Given the description of an element on the screen output the (x, y) to click on. 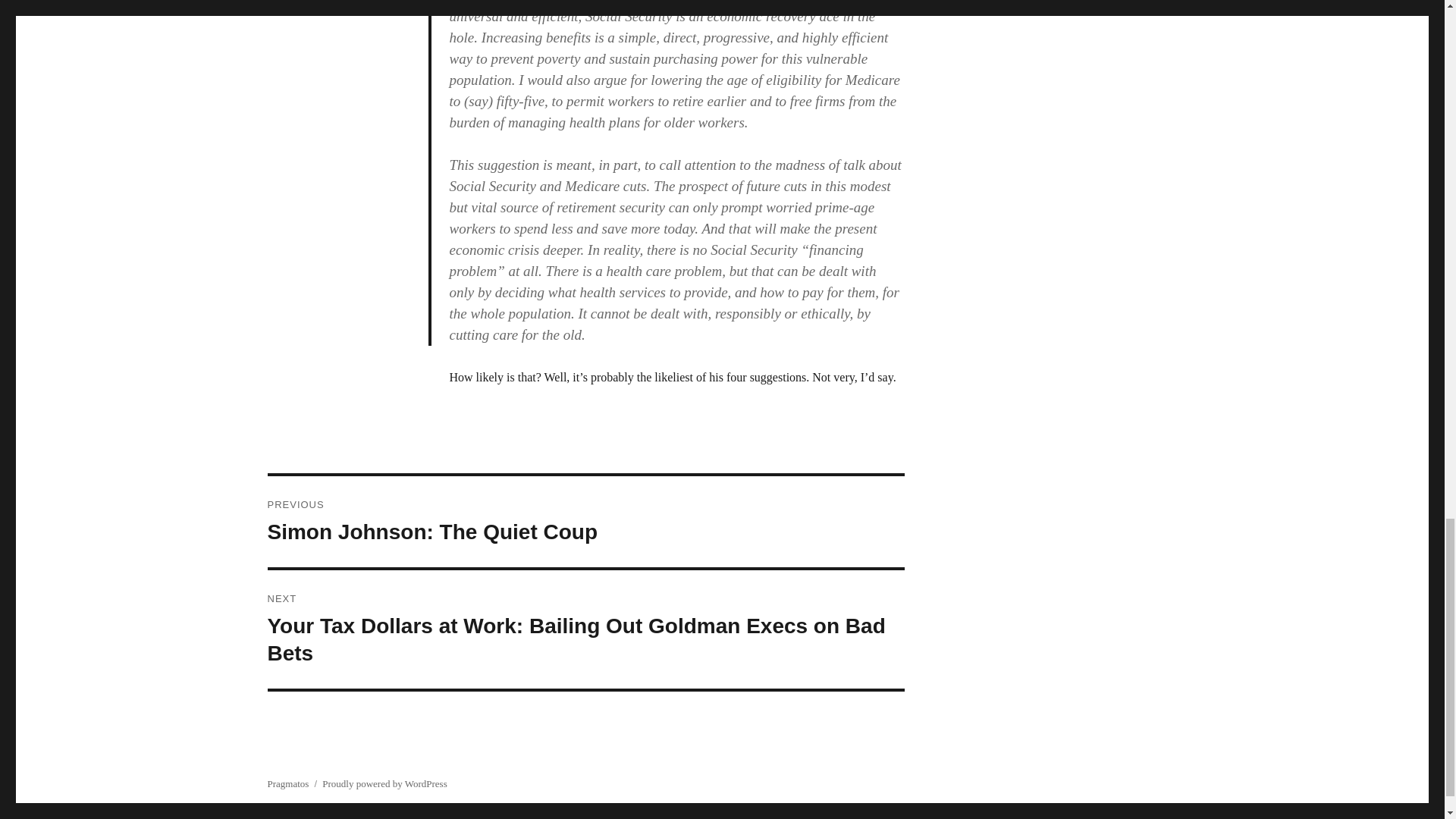
Pragmatos (287, 783)
Proudly powered by WordPress (383, 783)
